Given the description of an element on the screen output the (x, y) to click on. 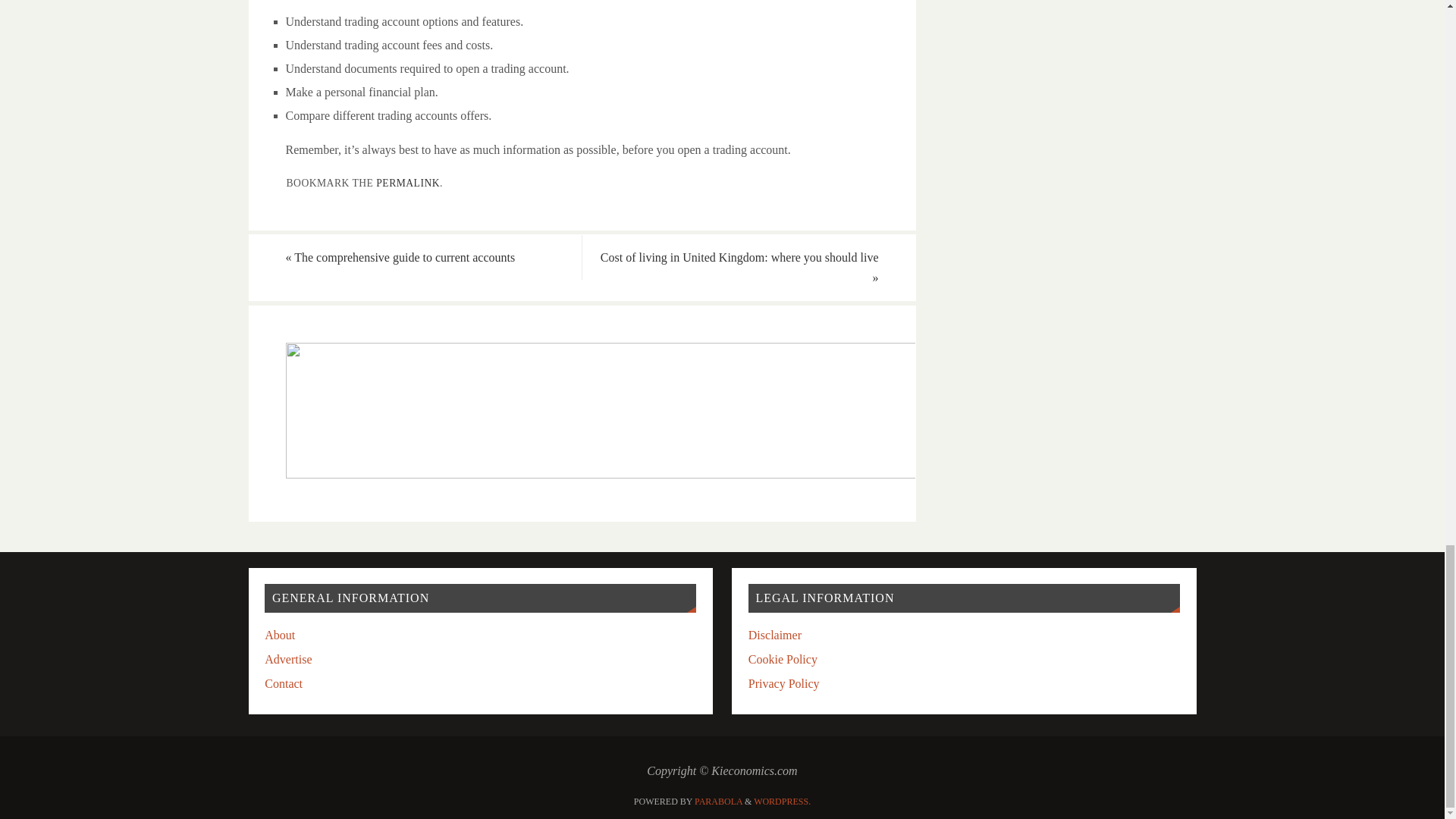
PERMALINK (407, 183)
Contact (283, 683)
Privacy Policy (783, 683)
Permalink to Trading account: everything you need to know (407, 183)
Semantic Personal Publishing Platform (782, 801)
WORDPRESS. (782, 801)
Cookie Policy (782, 658)
Disclaimer (775, 634)
Parabola Theme by Cryout Creations (718, 801)
About (279, 634)
